Given the description of an element on the screen output the (x, y) to click on. 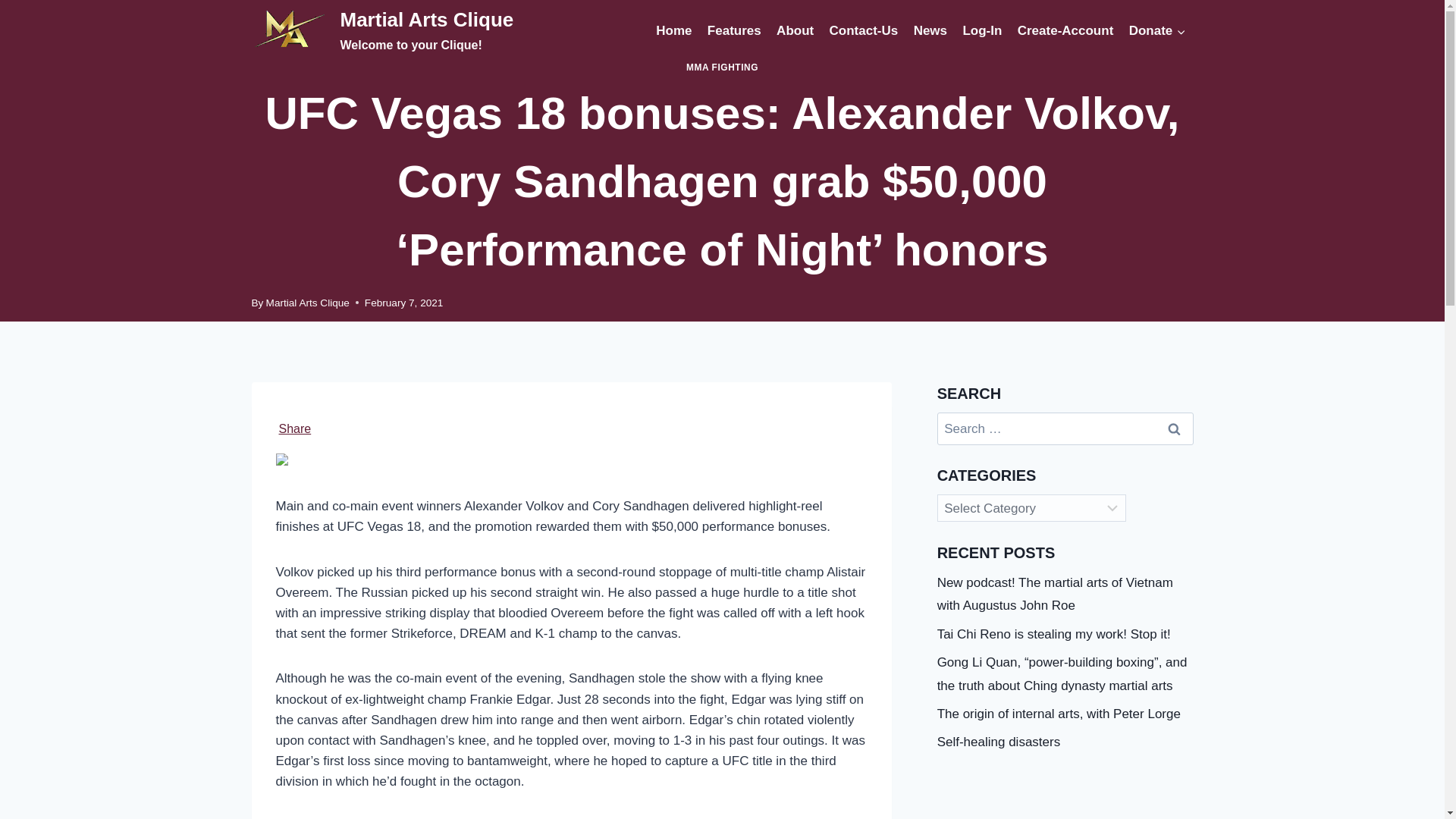
Search (1174, 428)
About (794, 31)
News (930, 31)
Search (1174, 428)
Contact-Us (863, 31)
Features (382, 31)
Share (734, 31)
Create-Account (295, 428)
Martial Arts Clique (1065, 31)
MMA FIGHTING (307, 302)
Donate (721, 67)
Log-In (1156, 31)
Home (982, 31)
